Given the description of an element on the screen output the (x, y) to click on. 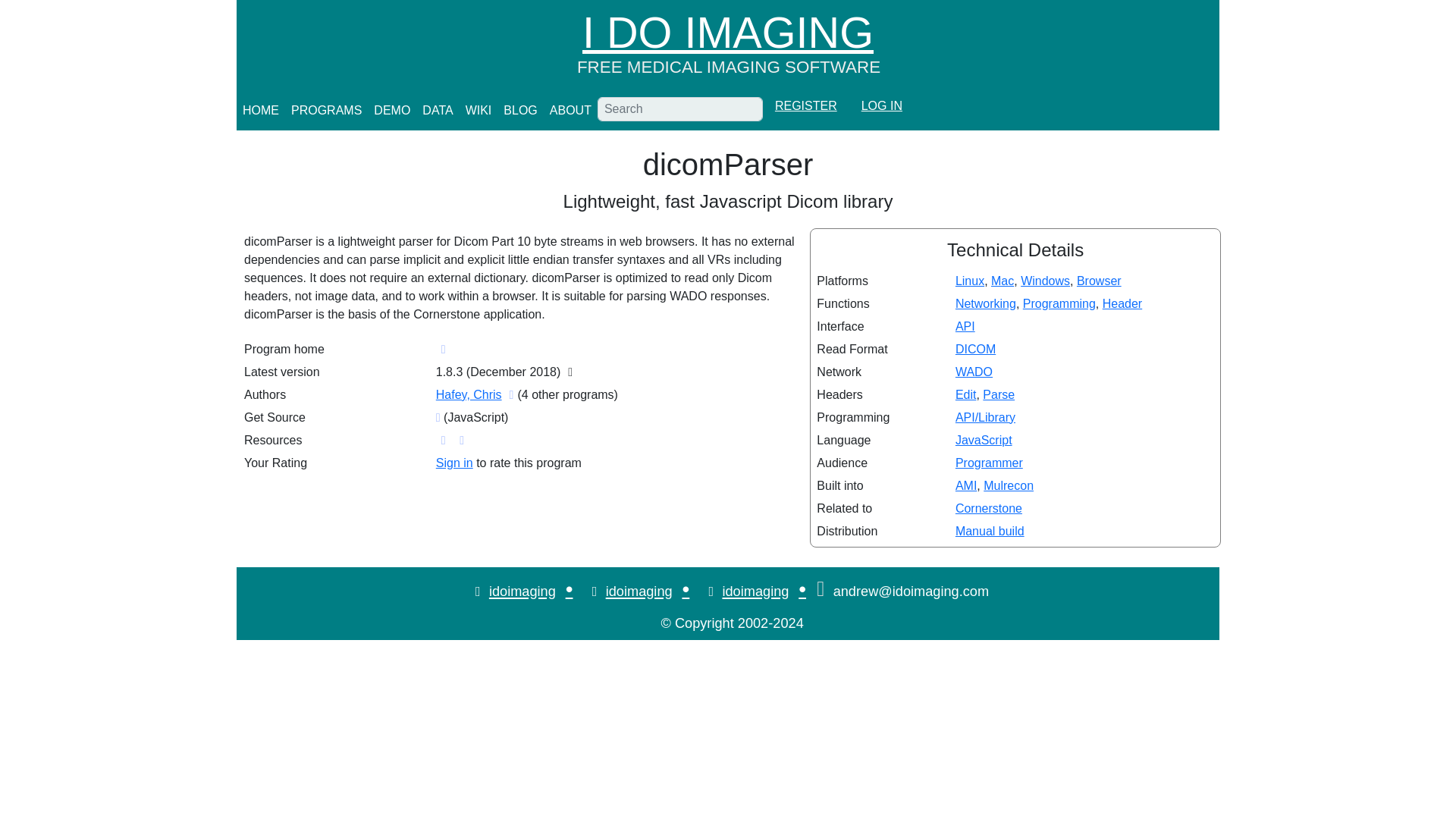
Browser (1099, 280)
JavaScript (983, 440)
Programmer (989, 462)
Windows (1045, 280)
DICOM (975, 349)
ABOUT (569, 110)
Sign in (454, 462)
Parse (998, 394)
REGISTER (805, 105)
Header (1121, 303)
DEMO (392, 110)
API (965, 326)
Linux (969, 280)
WIKI (478, 110)
LOG IN (881, 105)
